Given the description of an element on the screen output the (x, y) to click on. 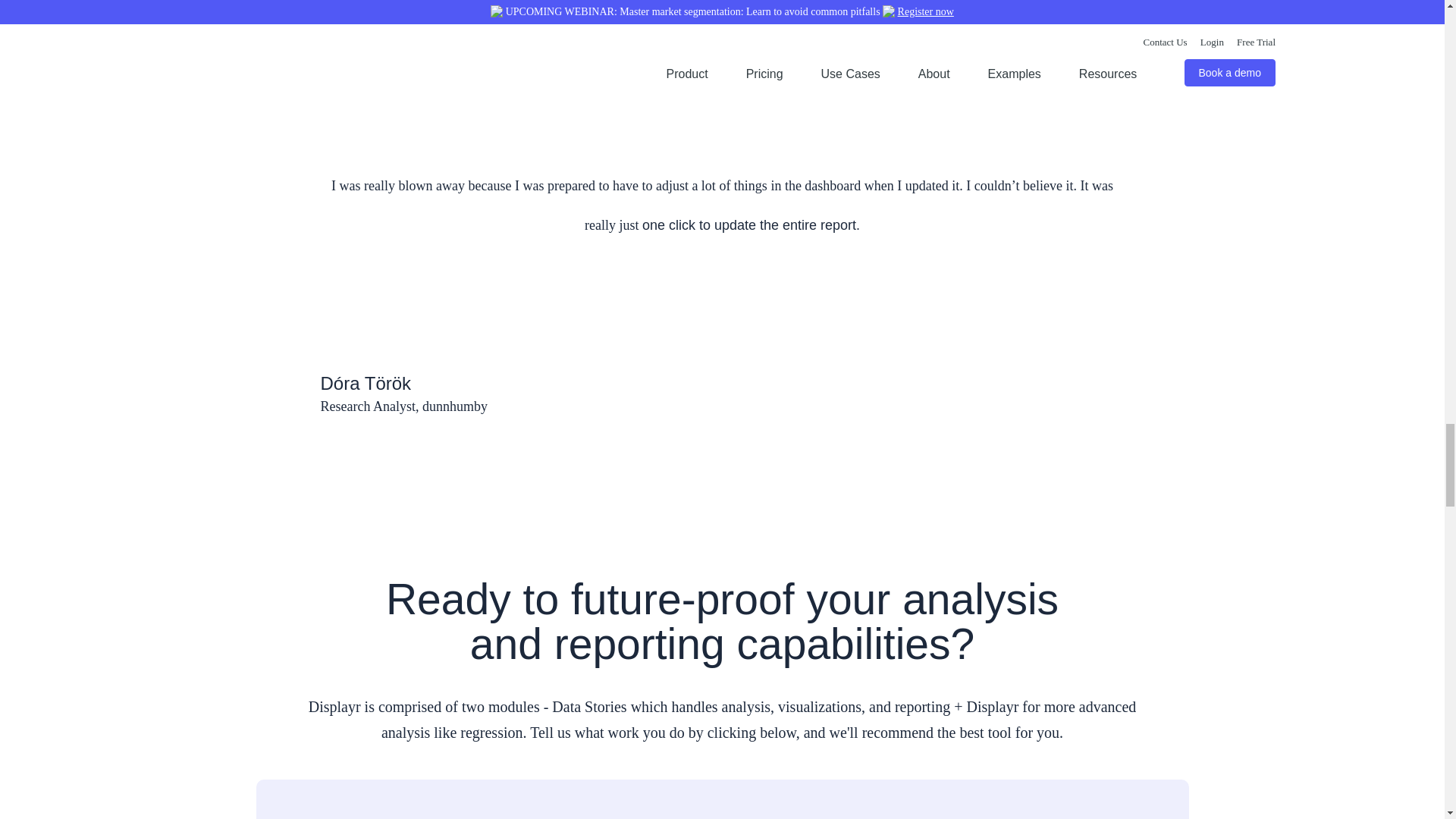
Dunnhumby (721, 121)
